Given the description of an element on the screen output the (x, y) to click on. 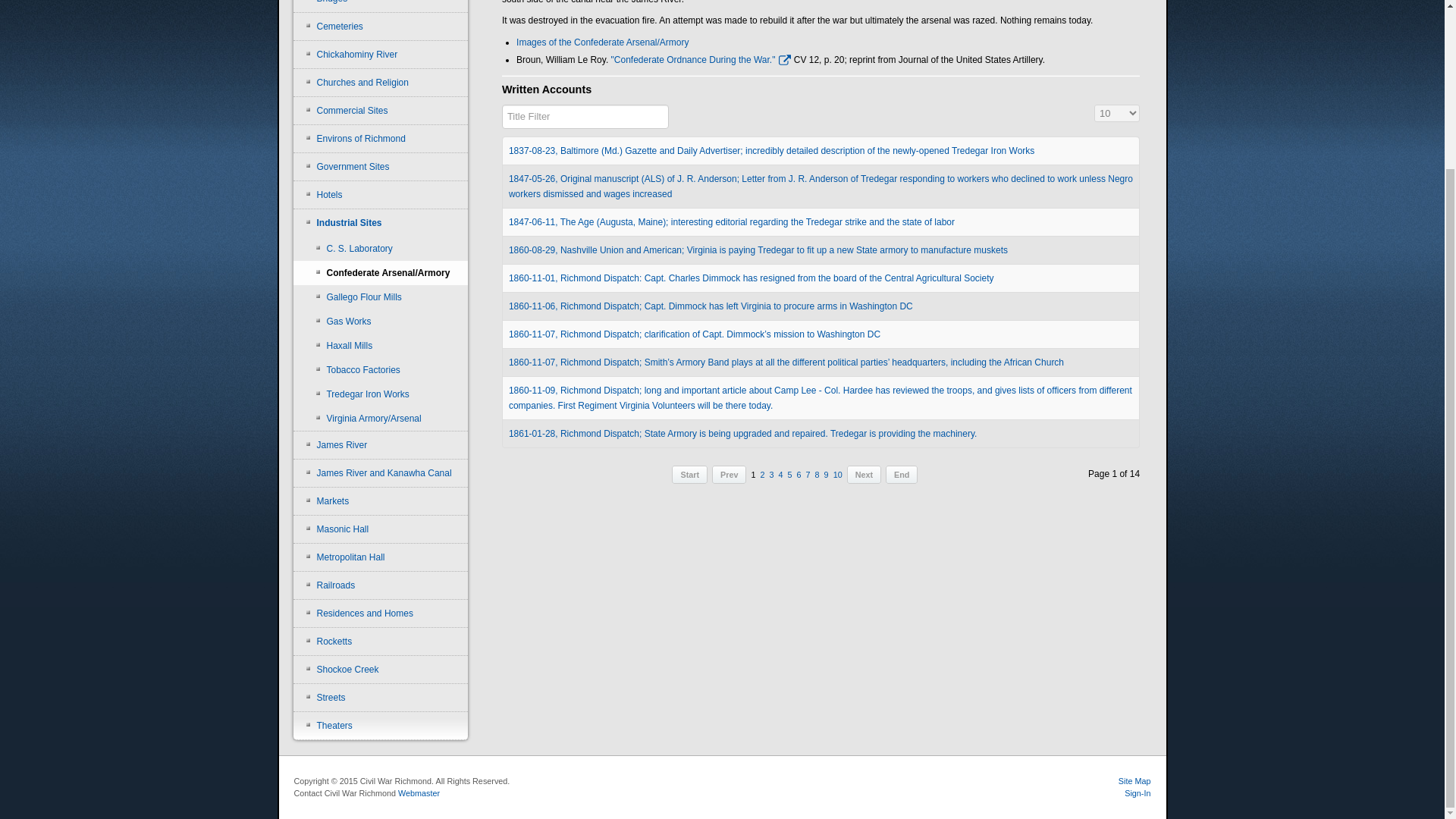
10 (837, 474)
Content Filter Search (585, 116)
"Confederate Ordnance During the War." (701, 59)
Next (863, 475)
End (901, 475)
